Given the description of an element on the screen output the (x, y) to click on. 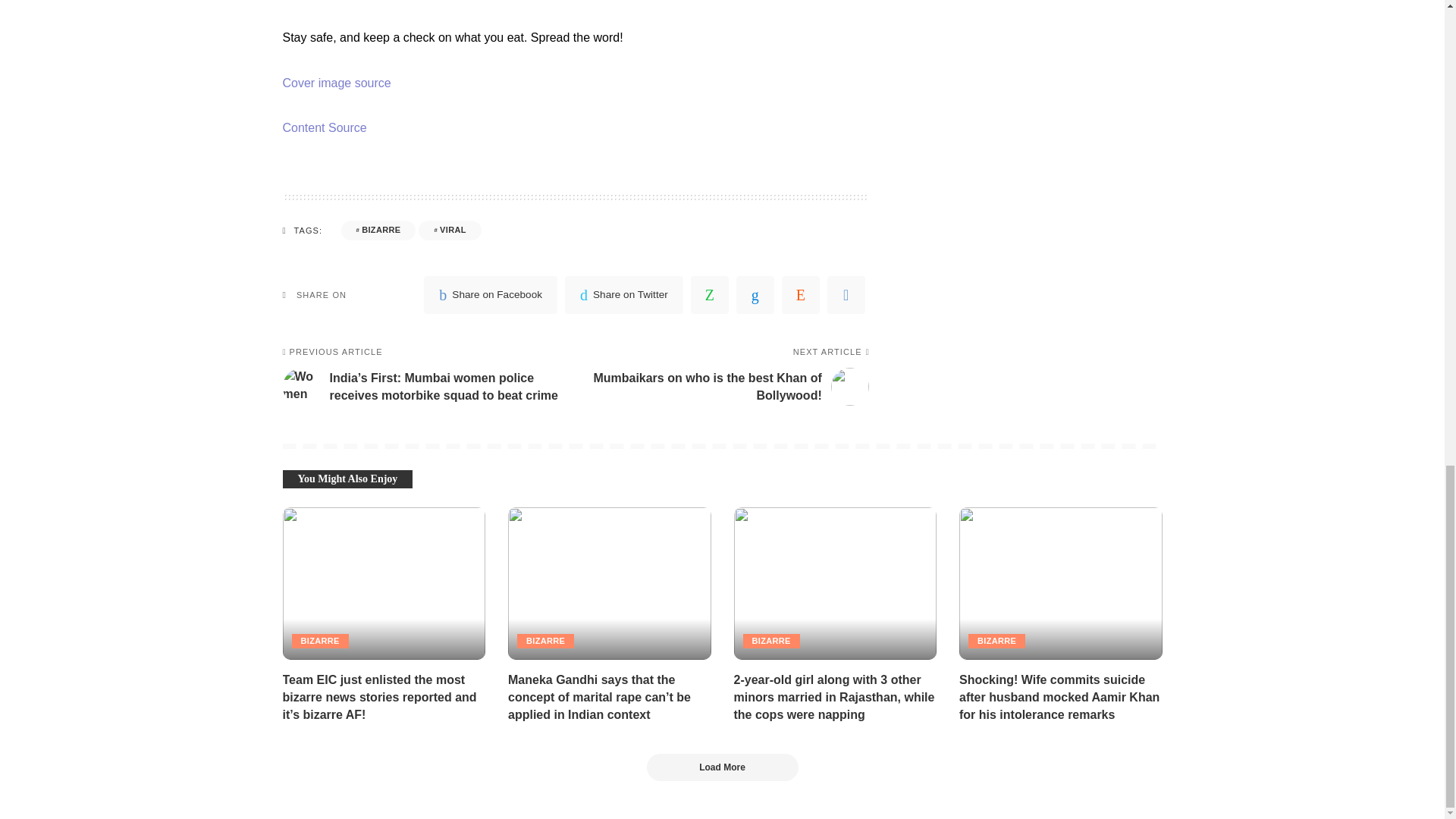
Twitter (623, 294)
Viral (449, 230)
Bizarre (378, 230)
Facebook (490, 294)
WhatsApp (709, 294)
